Given the description of an element on the screen output the (x, y) to click on. 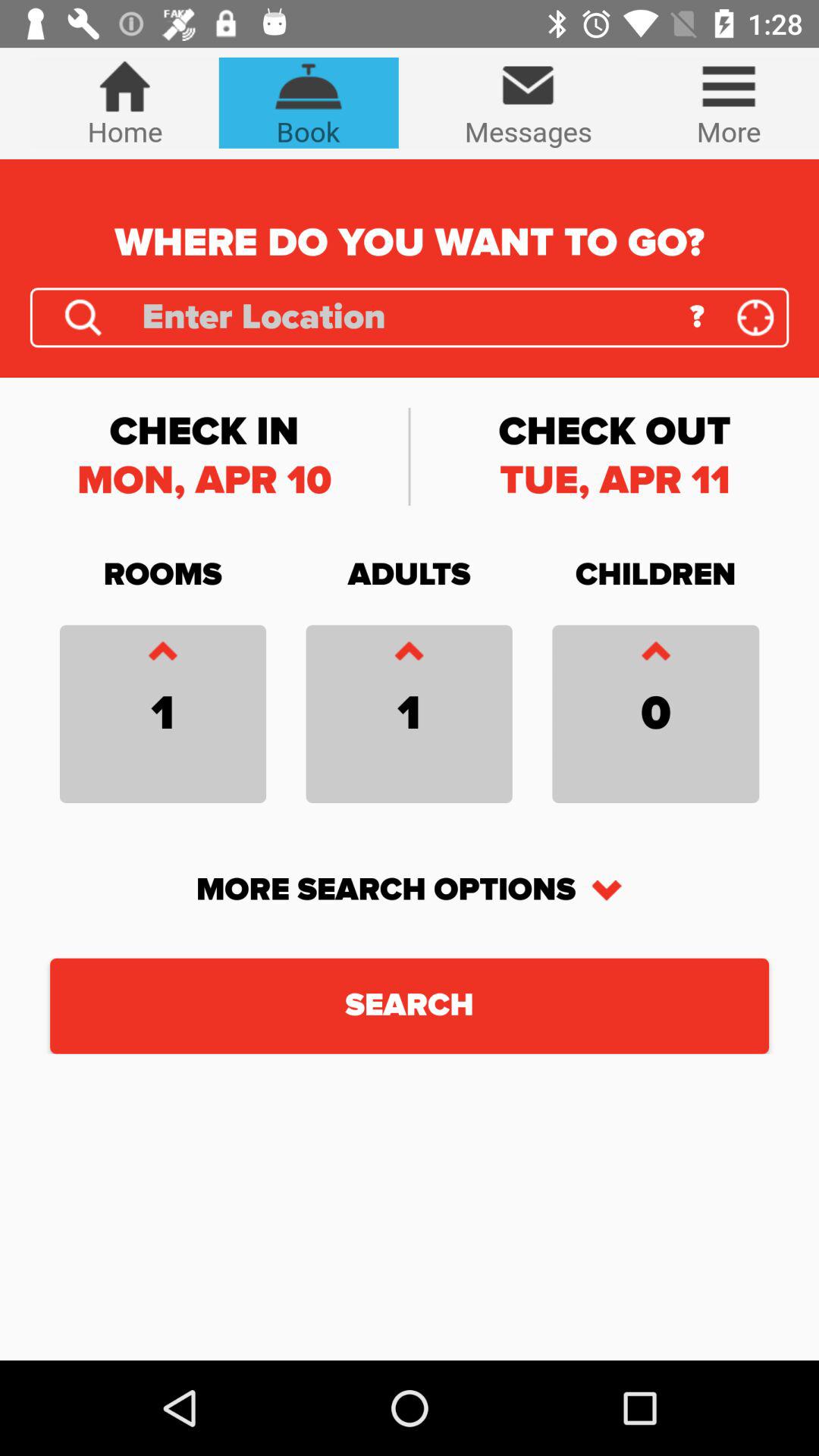
search the location (83, 317)
